Given the description of an element on the screen output the (x, y) to click on. 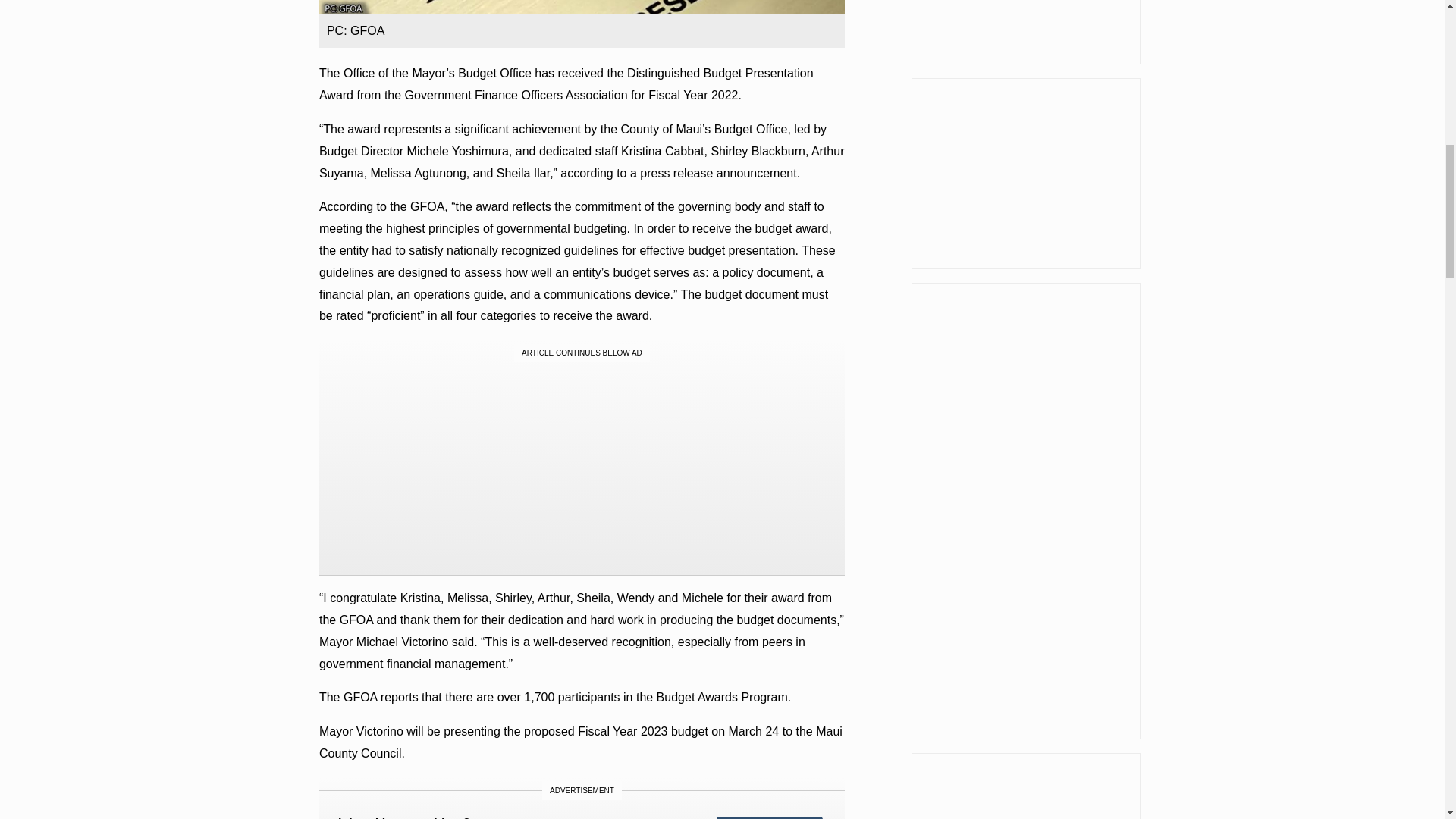
3rd party ad content (581, 468)
Arrow Up (1404, 15)
3rd party ad content (1025, 32)
3rd party ad content (1025, 785)
3rd party ad content (1025, 173)
3rd party ad content (581, 799)
